Given the description of an element on the screen output the (x, y) to click on. 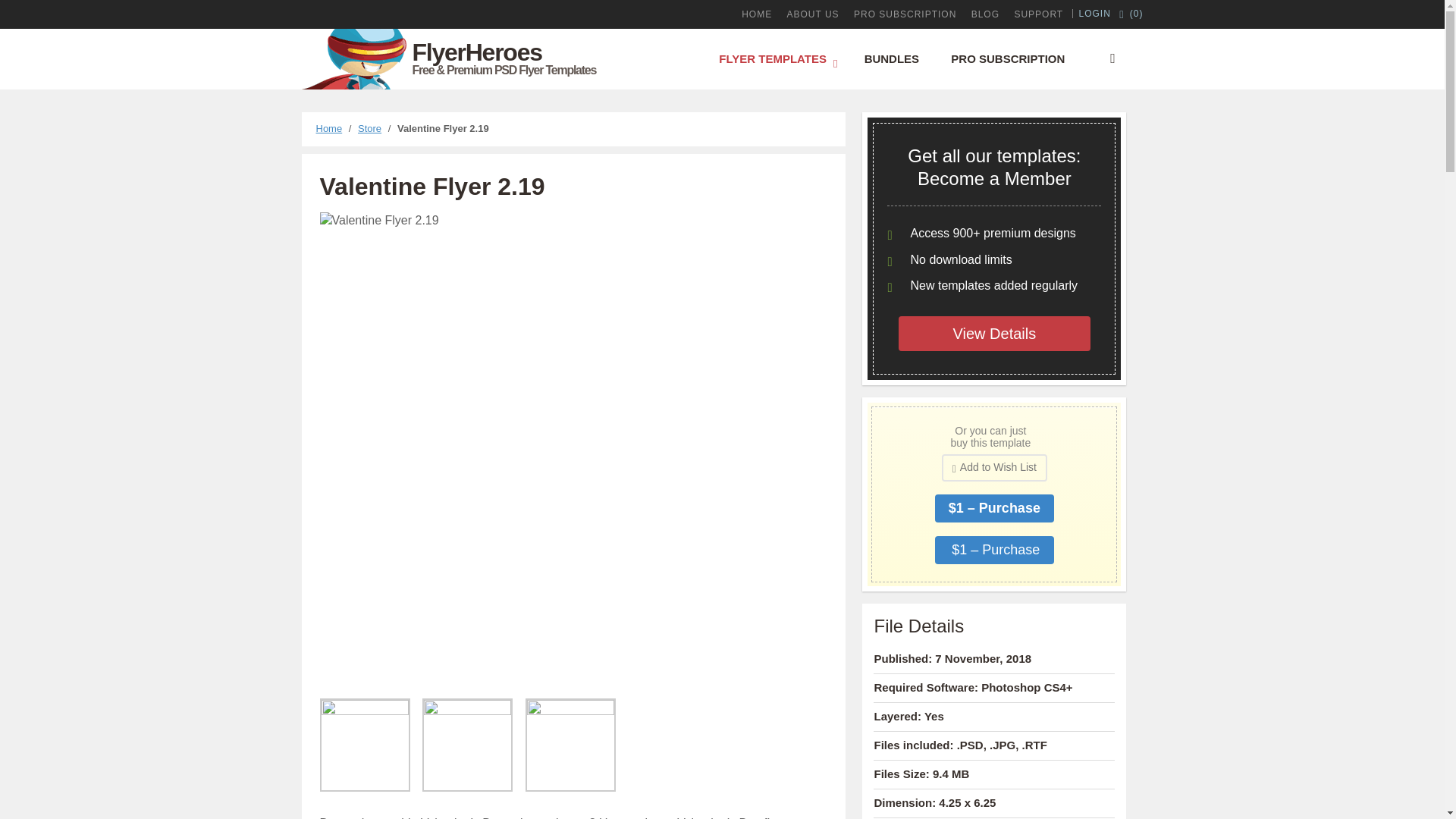
PRO SUBSCRIPTION (904, 13)
FLYER TEMPLATES (775, 58)
ABOUT US (812, 13)
BLOG (985, 13)
LOGIN (1094, 13)
HOME (756, 13)
SUPPORT (1037, 13)
